Given the description of an element on the screen output the (x, y) to click on. 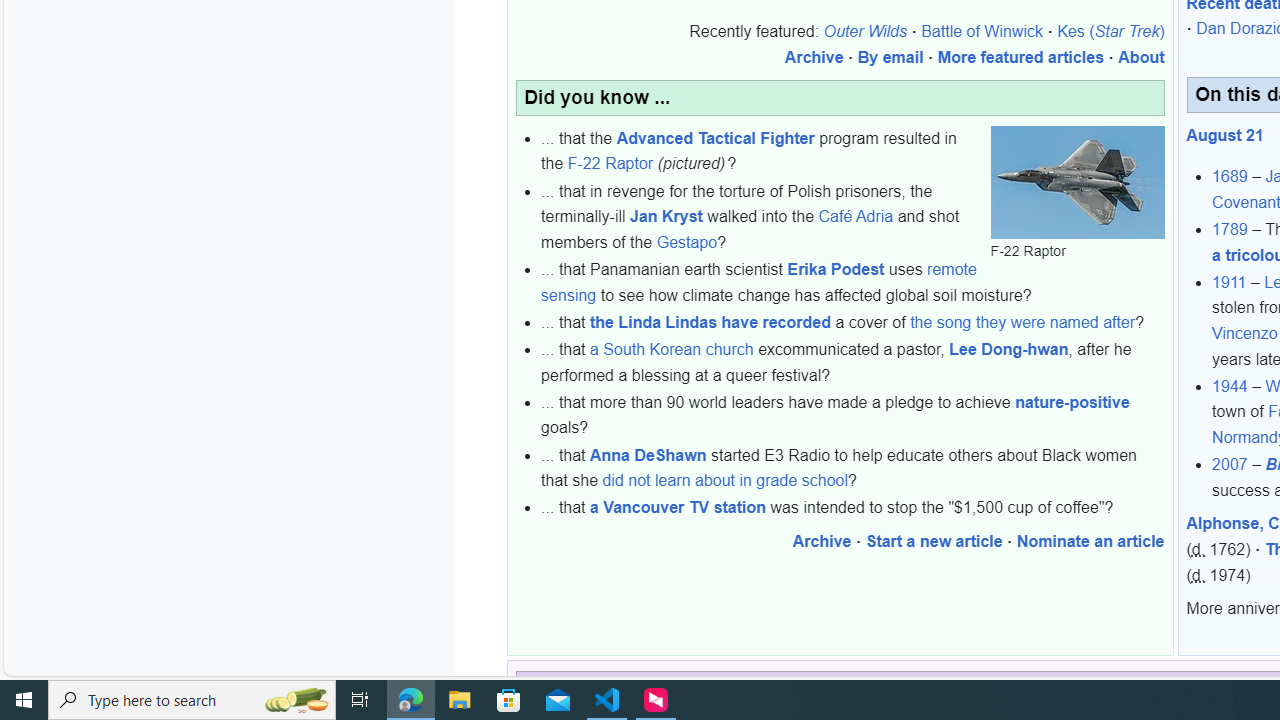
a Vancouver TV station (678, 507)
Archive (822, 541)
1944 (1230, 386)
About (1140, 57)
Start a new article (934, 541)
Lee Dong-hwan (1008, 350)
Kes (Star Trek) (1110, 32)
August 21 (1225, 134)
